Given the description of an element on the screen output the (x, y) to click on. 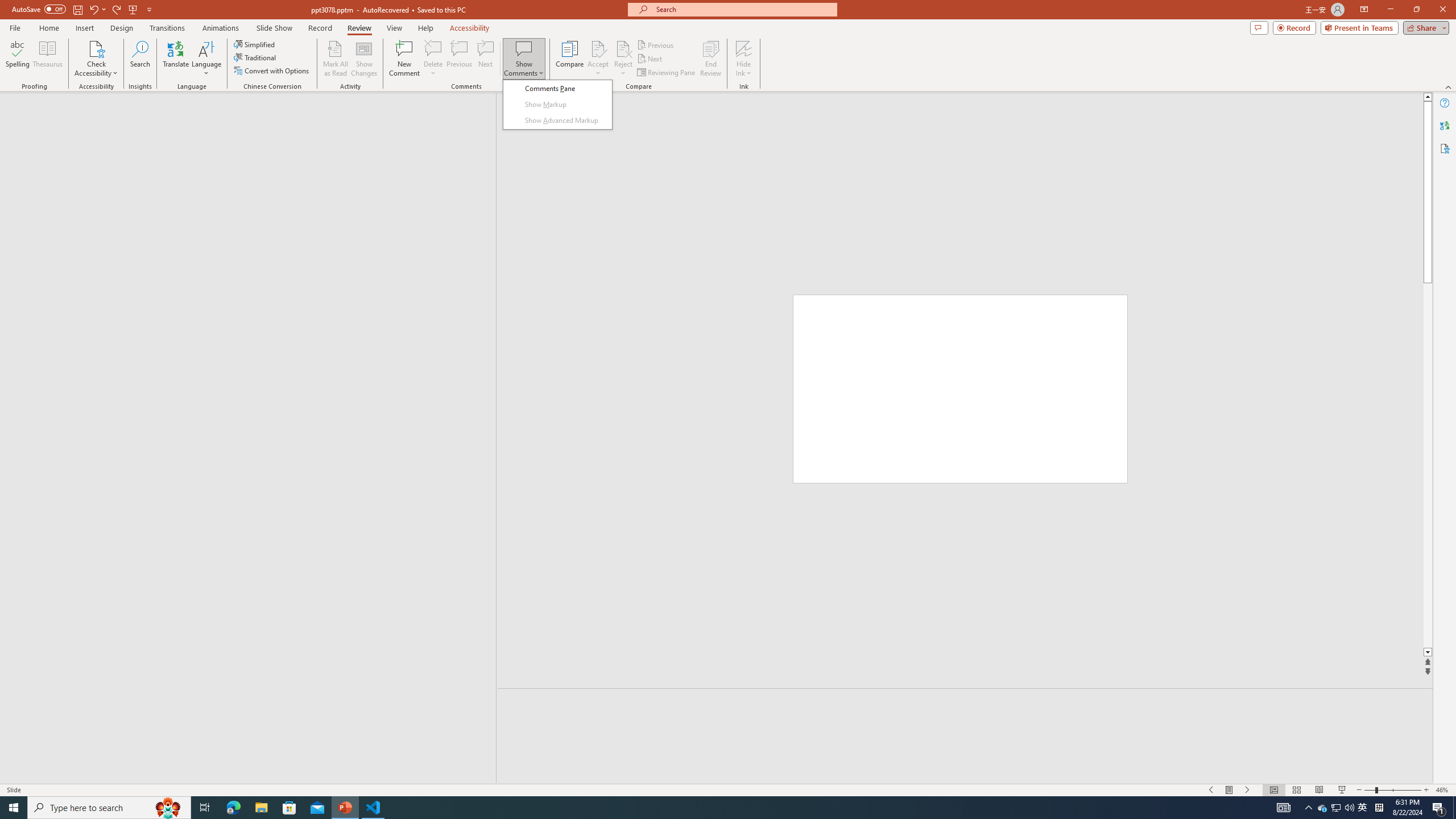
Convert with Options... (272, 69)
Thesaurus... (47, 58)
Menu On (1229, 790)
Translate (175, 58)
Slide Show Next On (1247, 790)
